Given the description of an element on the screen output the (x, y) to click on. 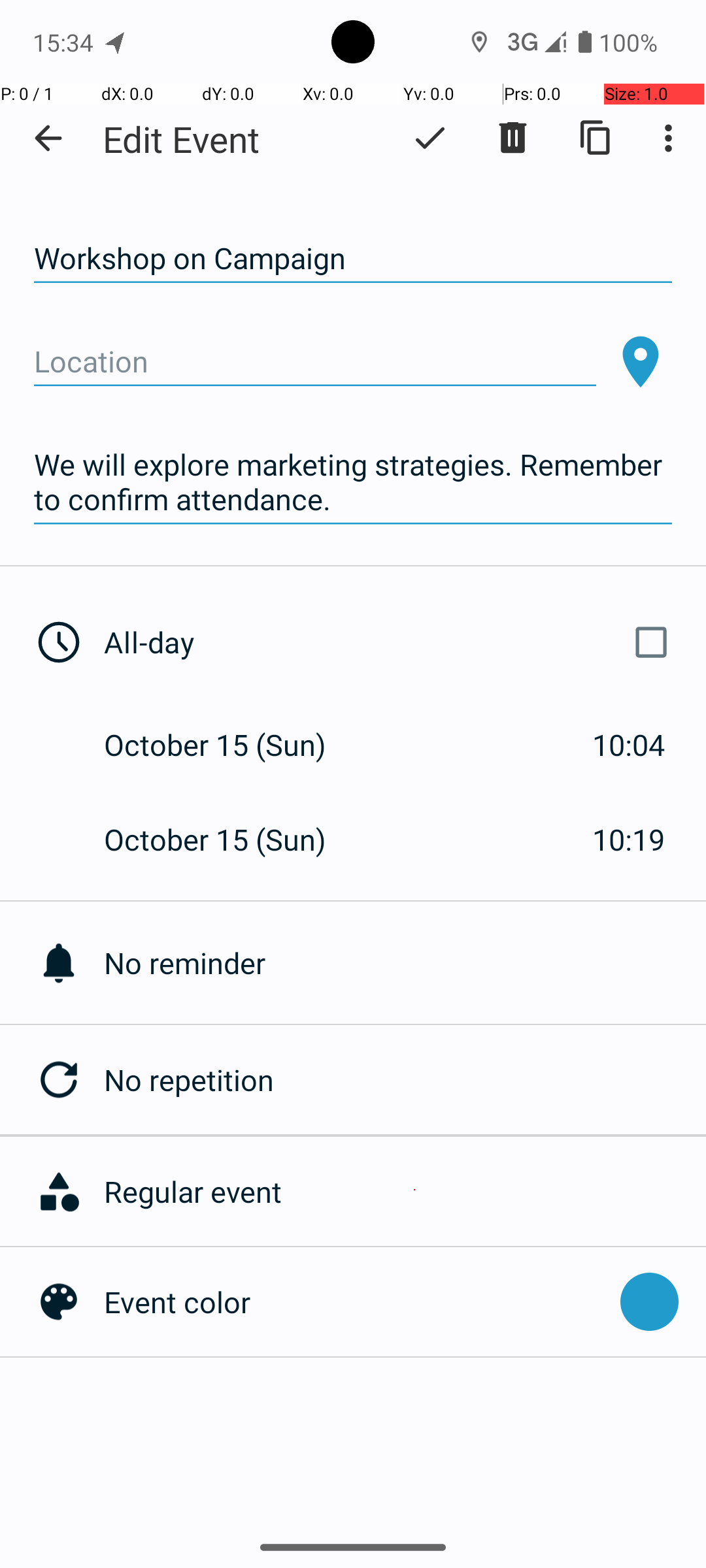
Edit Event Element type: android.widget.TextView (181, 138)
Duplicate event Element type: android.widget.Button (595, 137)
Workshop on Campaign Element type: android.widget.EditText (352, 258)
We will explore marketing strategies. Remember to confirm attendance. Element type: android.widget.EditText (352, 482)
10:04 Element type: android.widget.TextView (628, 744)
10:19 Element type: android.widget.TextView (628, 838)
No reminder Element type: android.widget.TextView (404, 962)
No repetition Element type: android.widget.TextView (404, 1079)
Event color Element type: android.widget.TextView (354, 1301)
